Given the description of an element on the screen output the (x, y) to click on. 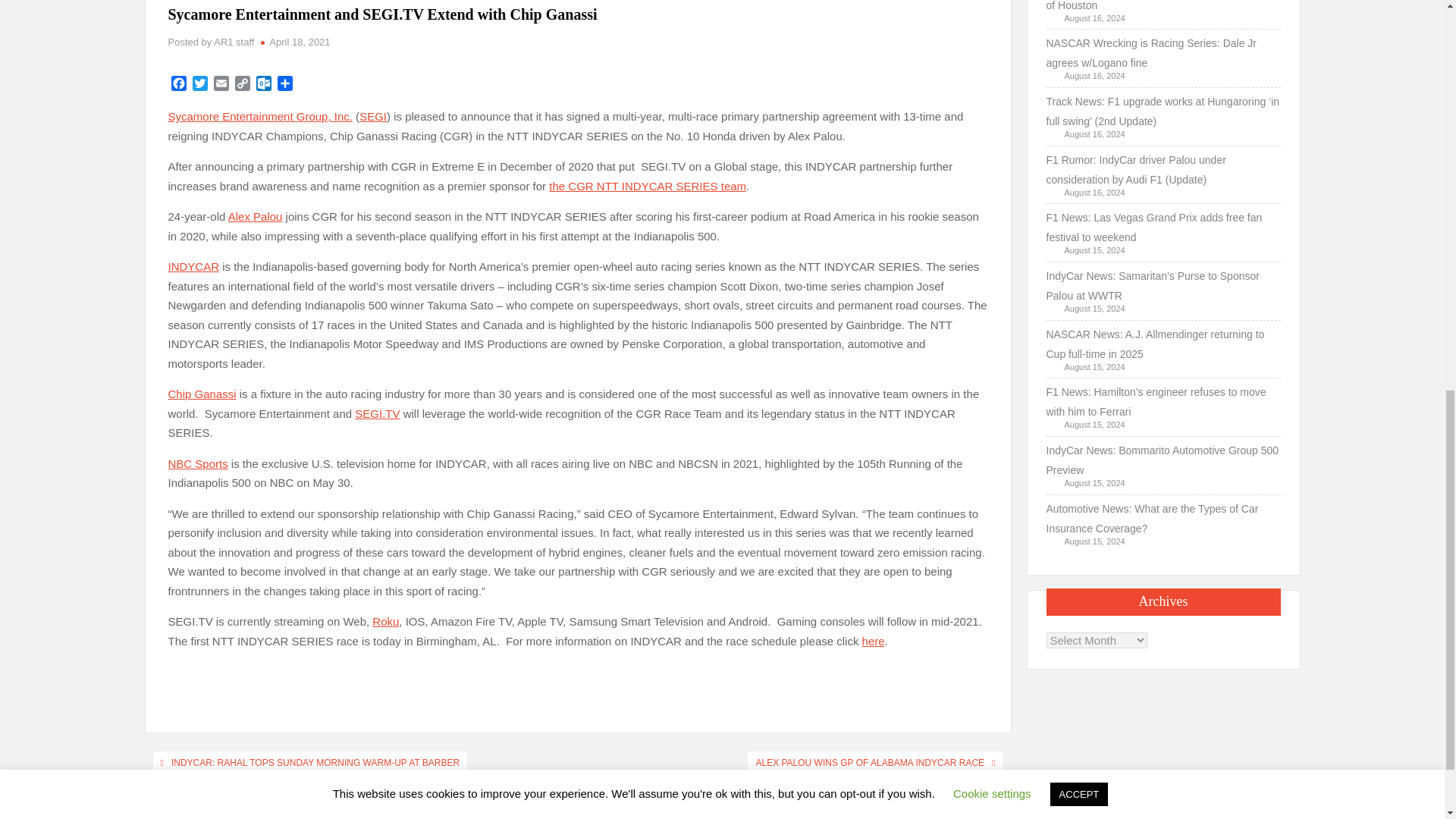
Twitter (200, 85)
Email (221, 85)
Outlook.com (264, 85)
Facebook (178, 85)
Copy Link (242, 85)
